Given the description of an element on the screen output the (x, y) to click on. 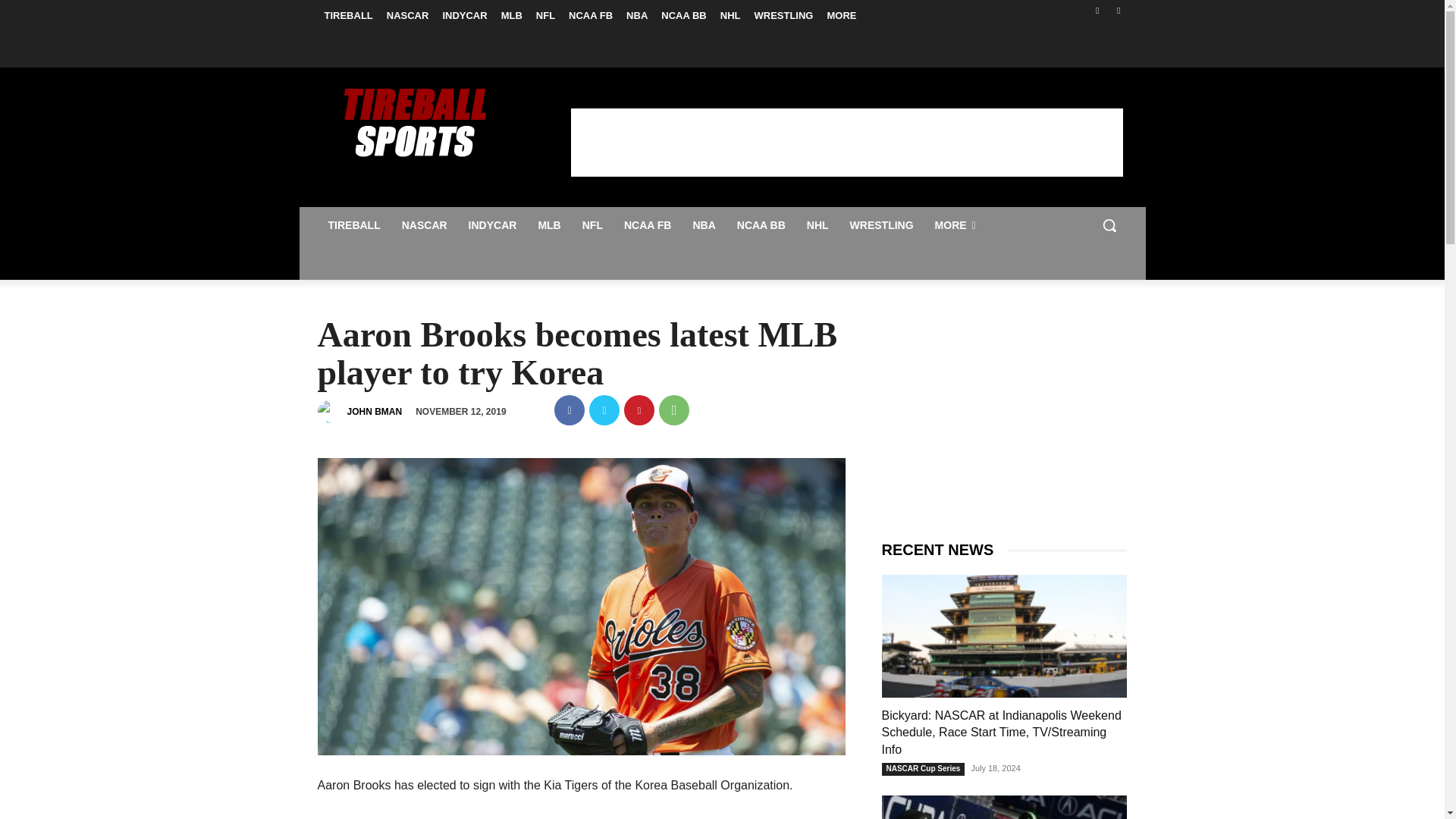
NASCAR (424, 225)
Facebook (1097, 9)
Advertisement (846, 141)
Twitter (604, 409)
MORE (841, 15)
NHL (730, 15)
MLB (548, 225)
INDYCAR (492, 225)
NCAA FB (646, 225)
INDYCAR (464, 15)
Pinterest (638, 409)
NCAA FB (591, 15)
Twitter (1117, 9)
MLB (512, 15)
NFL (592, 225)
